Given the description of an element on the screen output the (x, y) to click on. 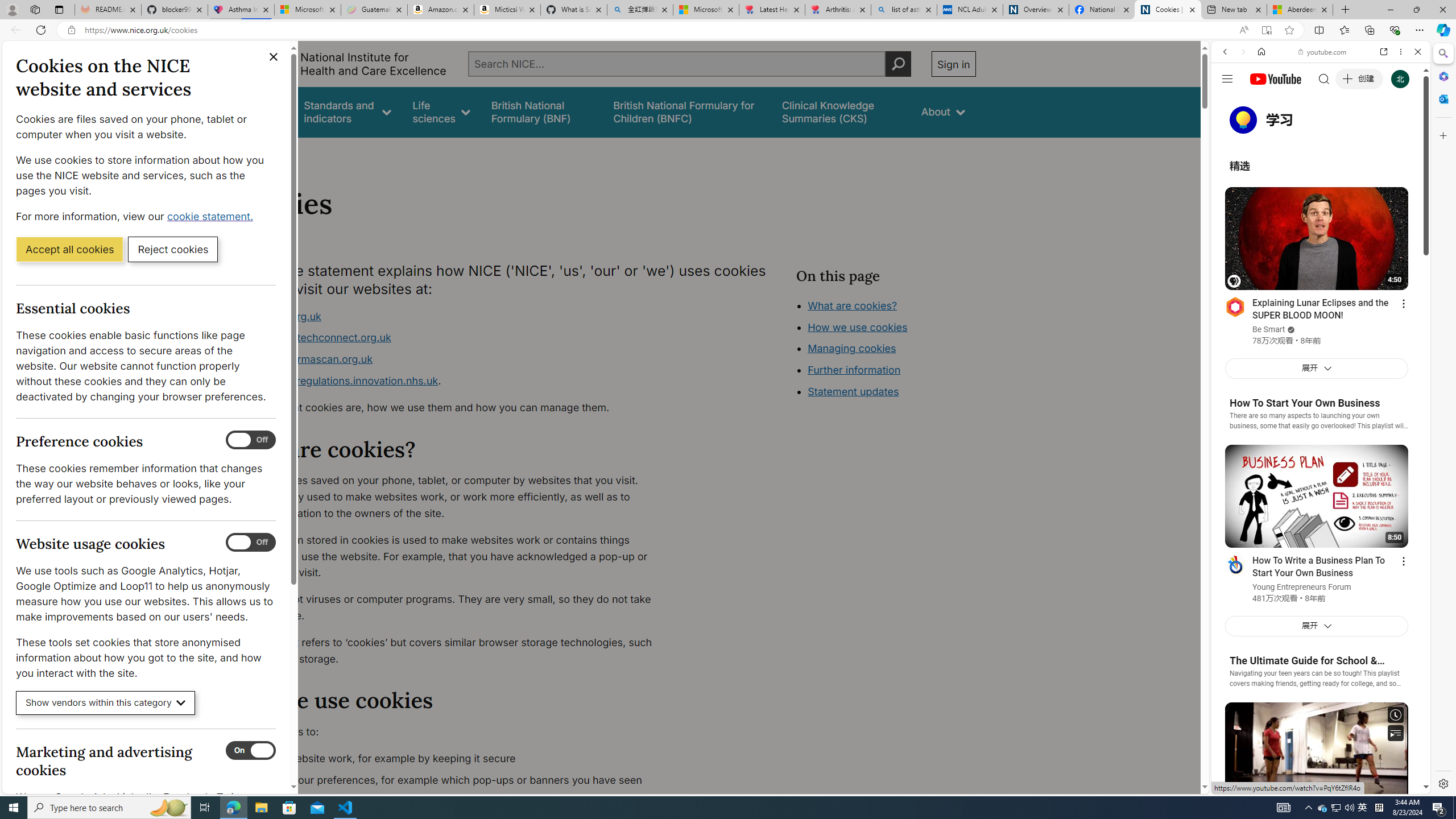
www.digitalregulations.innovation.nhs.uk (338, 380)
www.healthtechconnect.org.uk (452, 338)
